Given the description of an element on the screen output the (x, y) to click on. 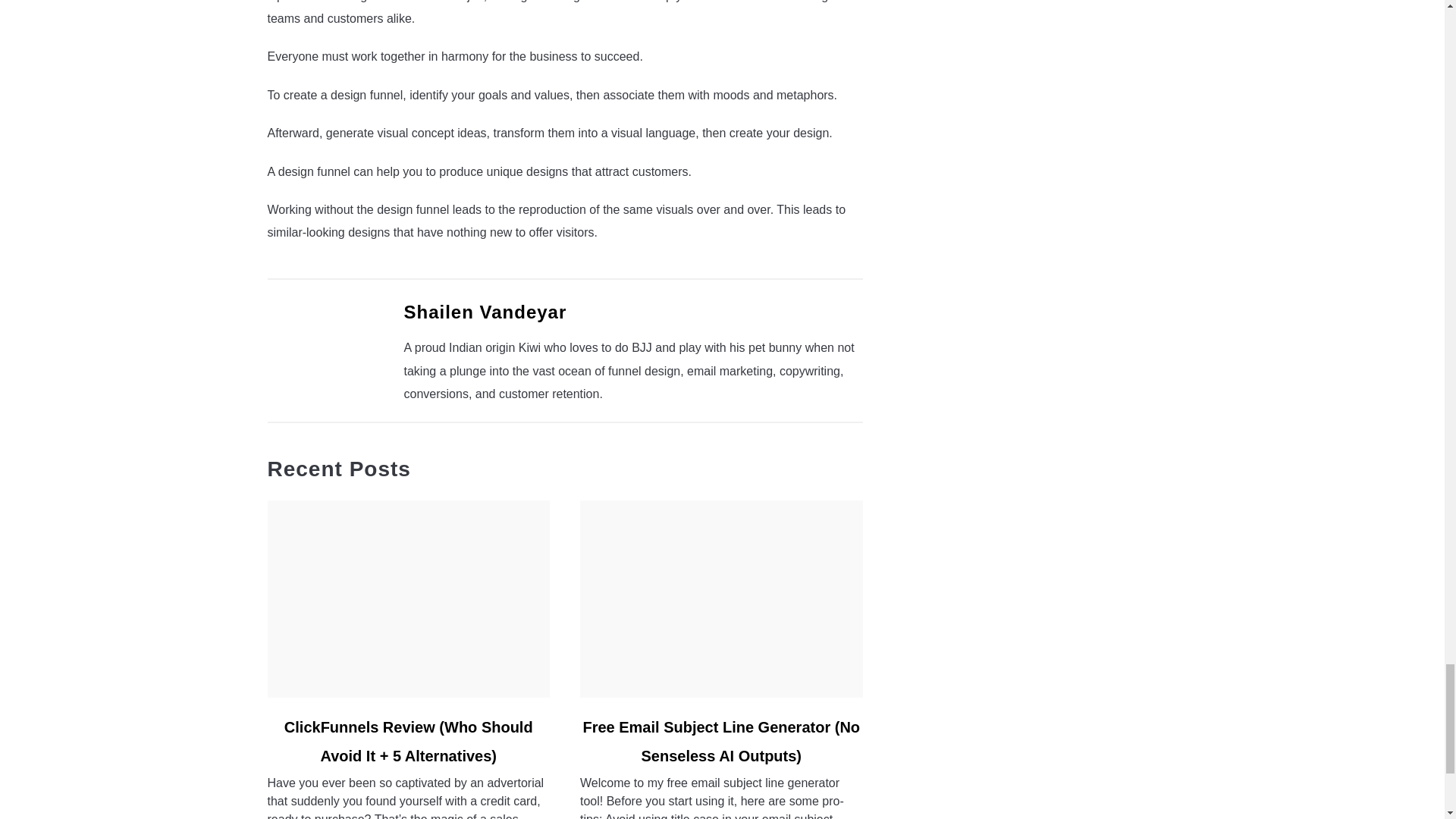
Shailen Vandeyar (484, 312)
